Given the description of an element on the screen output the (x, y) to click on. 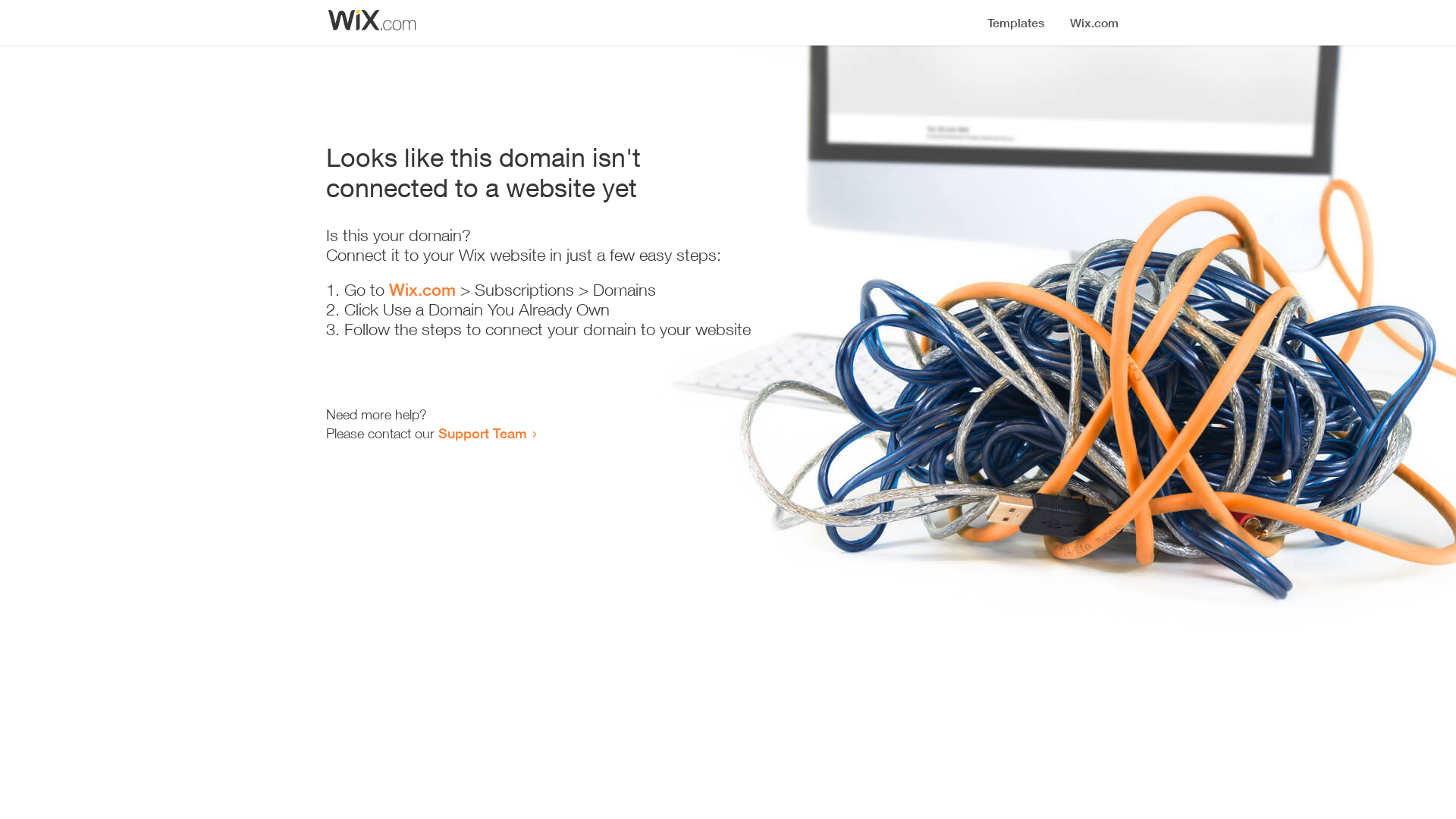
Support Team Element type: text (482, 432)
Wix.com Element type: text (422, 289)
